Given the description of an element on the screen output the (x, y) to click on. 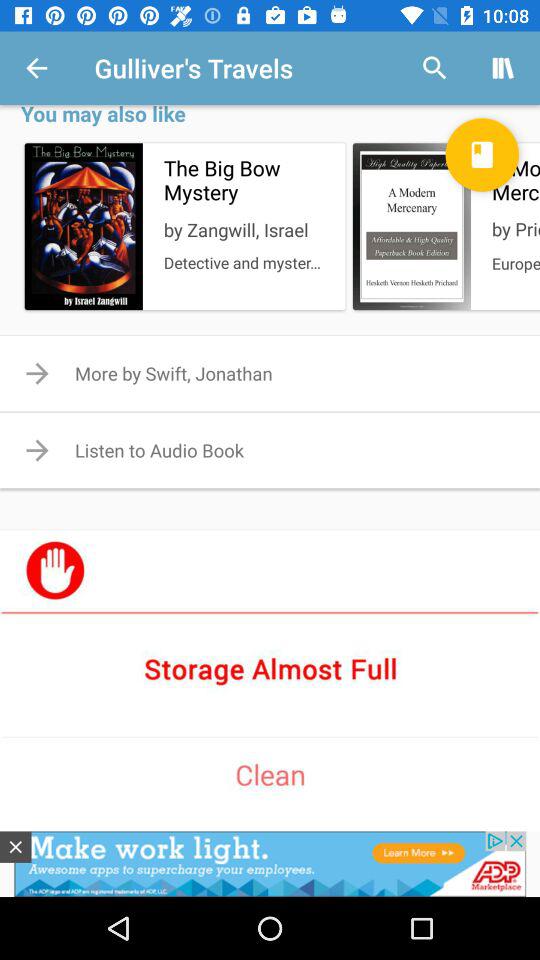
advertisement (270, 864)
